Given the description of an element on the screen output the (x, y) to click on. 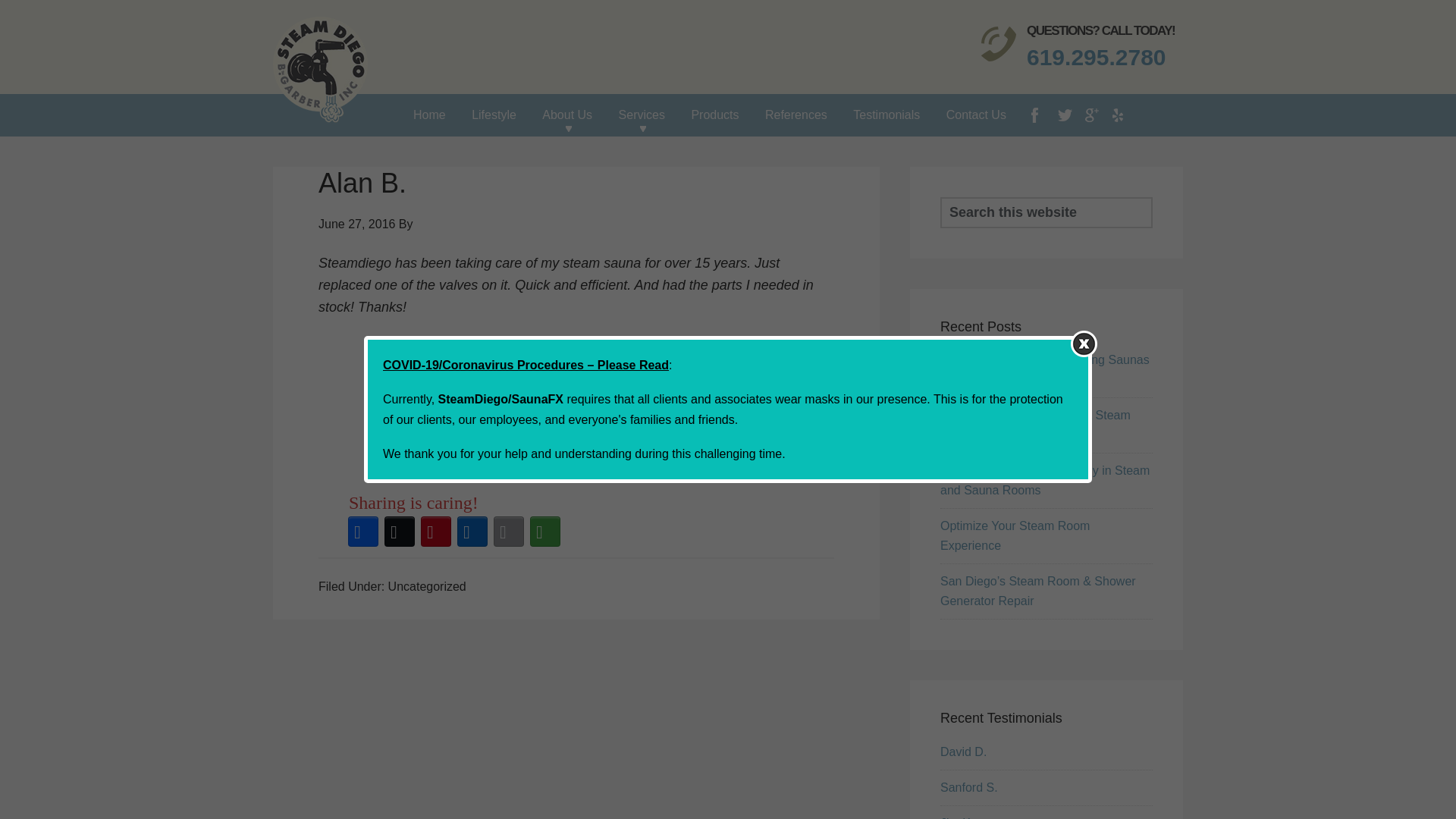
Home (429, 115)
Close (1083, 343)
SteamDiego (320, 73)
About Us (567, 115)
Pinterest (435, 531)
More Options (545, 531)
Testimonials (886, 115)
LinkedIn (472, 531)
Lifestyle (493, 115)
References (796, 115)
Facebook (363, 531)
